Given the description of an element on the screen output the (x, y) to click on. 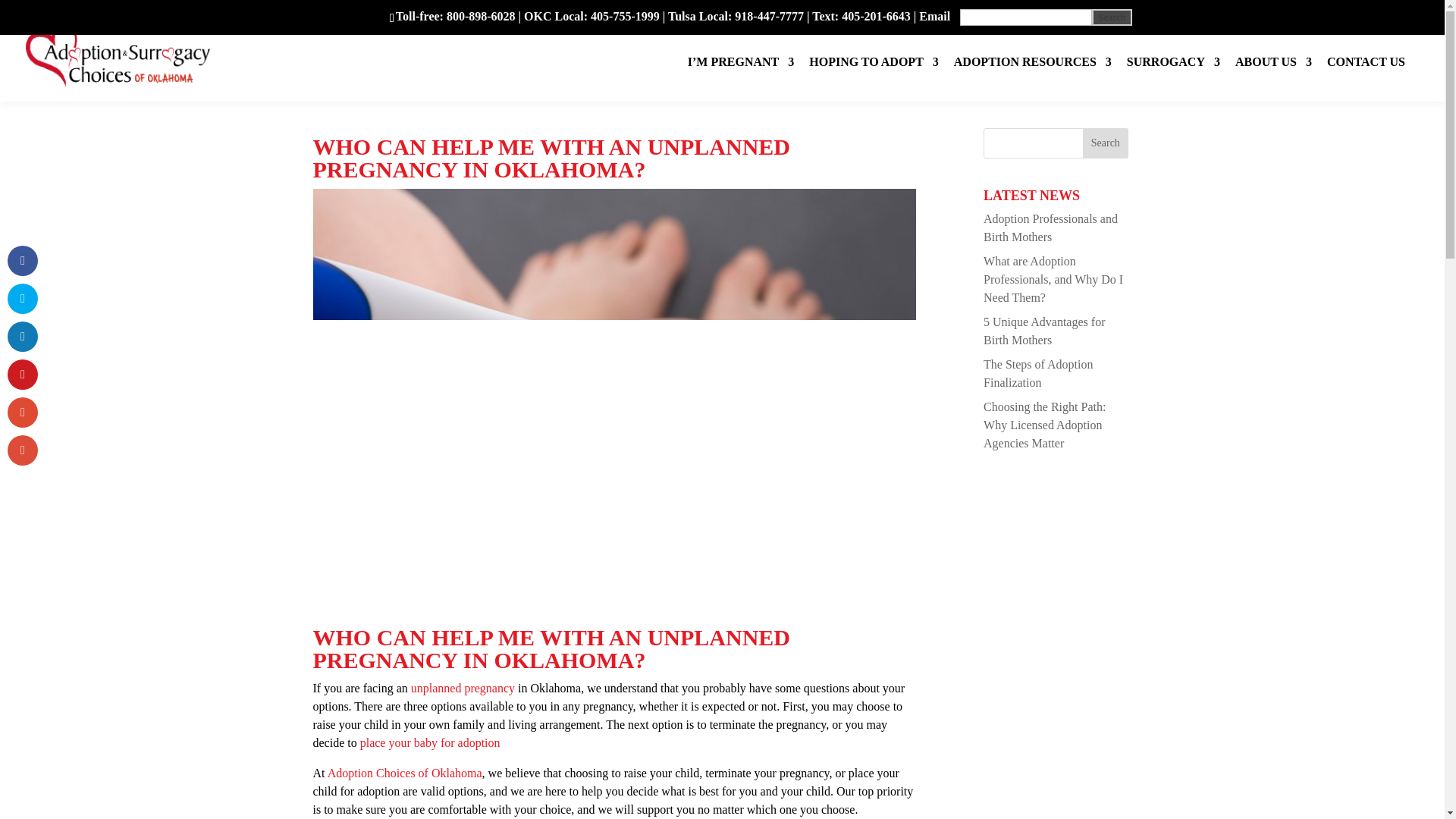
Adoption Choices of Oklahoma (404, 772)
Email (934, 15)
Search (1105, 142)
800-898-6028 (480, 15)
CONTACT US (1365, 78)
918-447-7777 (769, 15)
HOPING TO ADOPT (874, 78)
ADOPTION RESOURCES (1032, 78)
405-755-1999 (625, 15)
unplanned pregnancy (462, 687)
